Given the description of an element on the screen output the (x, y) to click on. 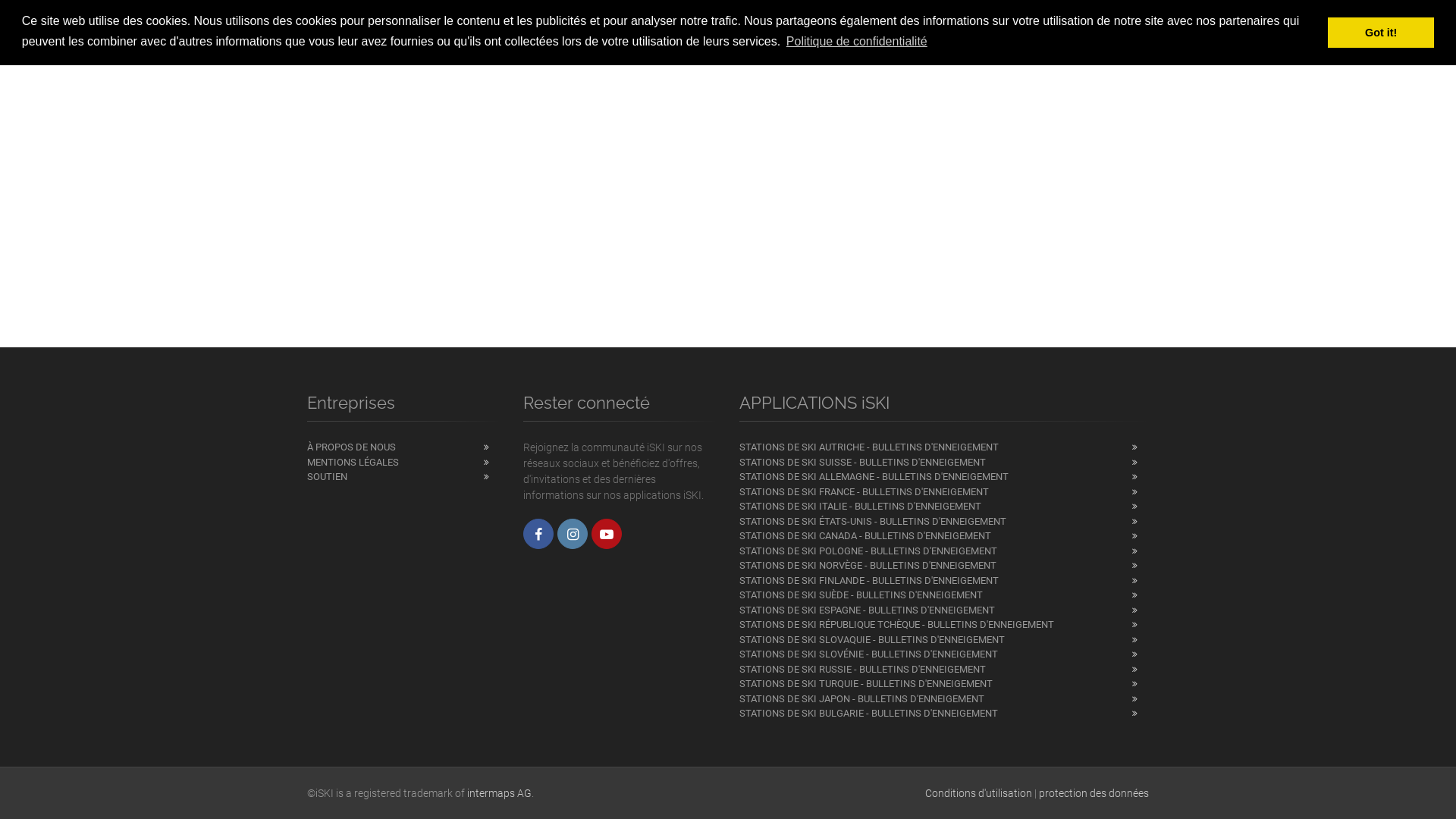
ACCUEIL Element type: text (719, 30)
SOUTIEN Element type: text (403, 476)
STATIONS DE SKI FRANCE - BULLETINS D'ENNEIGEMENT Element type: text (943, 491)
STATIONS DE SKI AUTRICHE - BULLETINS D'ENNEIGEMENT Element type: text (943, 447)
STATIONS DE SKI FINLANDE - BULLETINS D'ENNEIGEMENT Element type: text (943, 580)
STATIONS DE SKI CANADA - BULLETINS D'ENNEIGEMENT Element type: text (943, 535)
STATIONS DE SKI POLOGNE - BULLETINS D'ENNEIGEMENT Element type: text (943, 550)
Got it! Element type: text (1380, 32)
MON iSKI Element type: text (953, 30)
iSKI APPS Element type: text (875, 30)
intermaps AG Element type: text (499, 793)
STATIONS DE SKI JAPON - BULLETINS D'ENNEIGEMENT Element type: text (943, 698)
STATIONS DE SKI TURQUIE - BULLETINS D'ENNEIGEMENT Element type: text (943, 683)
STATIONS DE SKI ESPAGNE - BULLETINS D'ENNEIGEMENT Element type: text (943, 610)
iSKI TROPHY Element type: text (1039, 30)
STATIONS DE SKI BULGARIE - BULLETINS D'ENNEIGEMENT Element type: text (943, 713)
STATIONS DE SKI SUISSE - BULLETINS D'ENNEIGEMENT Element type: text (943, 462)
FR Element type: text (1133, 31)
STATIONS DE SKI RUSSIE - BULLETINS D'ENNEIGEMENT Element type: text (943, 669)
Conditions d'utilisation Element type: text (978, 793)
STATIONS DE SKI ITALIE - BULLETINS D'ENNEIGEMENT Element type: text (943, 506)
STATIONS DE SKI SLOVAQUIE - BULLETINS D'ENNEIGEMENT Element type: text (943, 639)
RESORTS Element type: text (796, 30)
STATIONS DE SKI ALLEMAGNE - BULLETINS D'ENNEIGEMENT Element type: text (943, 476)
